Given the description of an element on the screen output the (x, y) to click on. 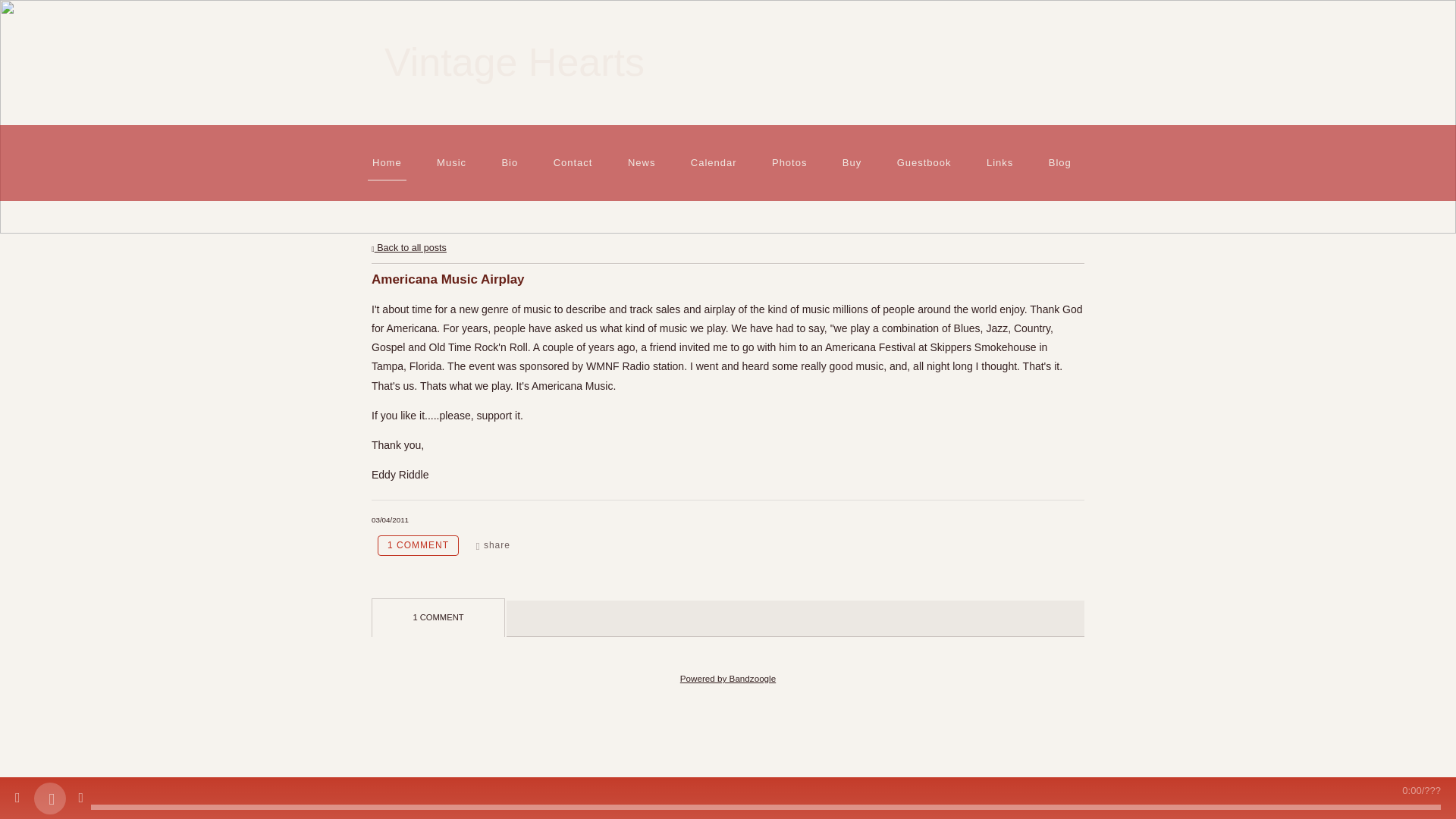
Guestbook (923, 162)
March 04, 2011 15:10 (390, 519)
Powered by Bandzoogle (727, 678)
Links (999, 162)
Contact (572, 162)
Back to all posts (408, 247)
Calendar (713, 162)
1 COMMENT (417, 545)
Powered by Bandzoogle (727, 678)
Vintage Hearts (514, 68)
Photos (788, 162)
Home (386, 162)
share (493, 545)
Share Americana Music Airplay (493, 545)
Music (451, 162)
